Given the description of an element on the screen output the (x, y) to click on. 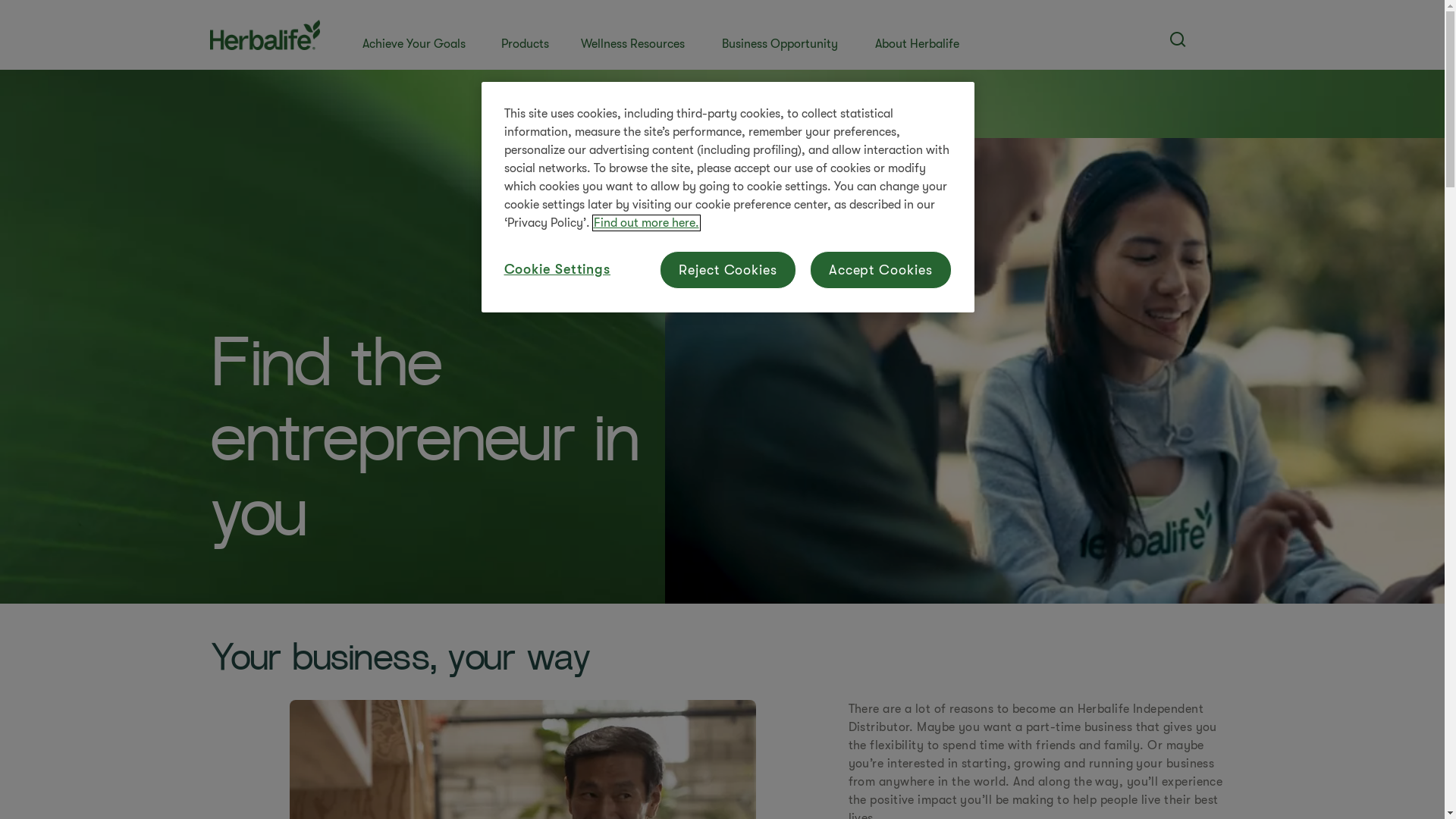
Accept Cookies Element type: text (880, 269)
Wellness Resources Element type: text (637, 34)
Cookie Settings Element type: text (556, 269)
Achieve Your Goals Element type: text (417, 34)
Business Opportunity Element type: text (784, 34)
Reject Cookies Element type: text (727, 269)
Find out more here. Element type: text (645, 222)
About Herbalife Element type: text (920, 34)
Products Element type: text (526, 34)
